Given the description of an element on the screen output the (x, y) to click on. 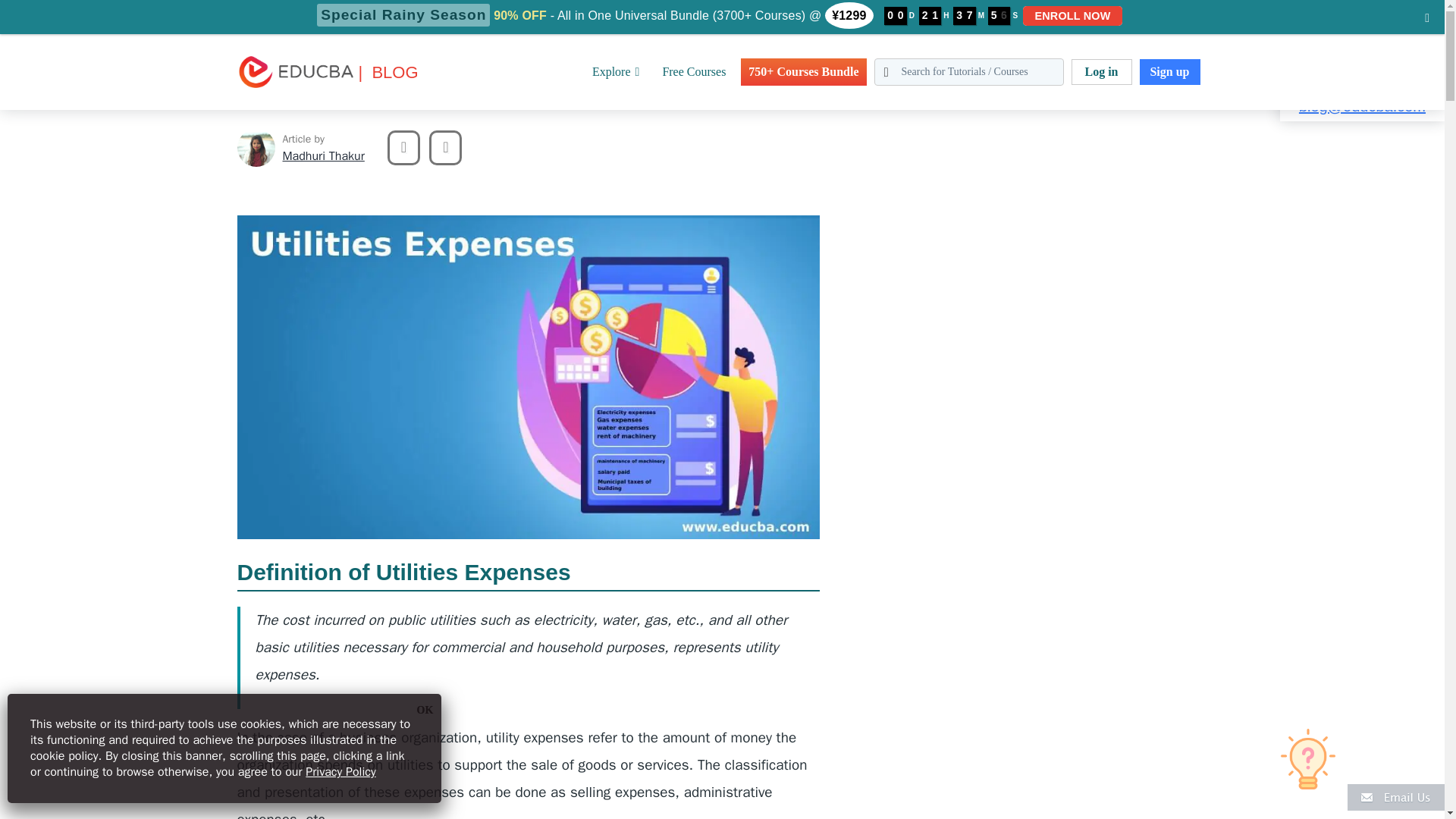
Search (43, 19)
Finance (58, 9)
Log in (1100, 71)
Finance Resources (134, 9)
Free Courses (693, 72)
Madhuri Thakur (255, 147)
Previous (403, 147)
Home (13, 9)
Explore (616, 72)
Madhuri Thakur (323, 155)
Accounting Fundamentals Resources (277, 9)
Next (445, 147)
EDUCBA (259, 96)
Sign up (1168, 71)
